Given the description of an element on the screen output the (x, y) to click on. 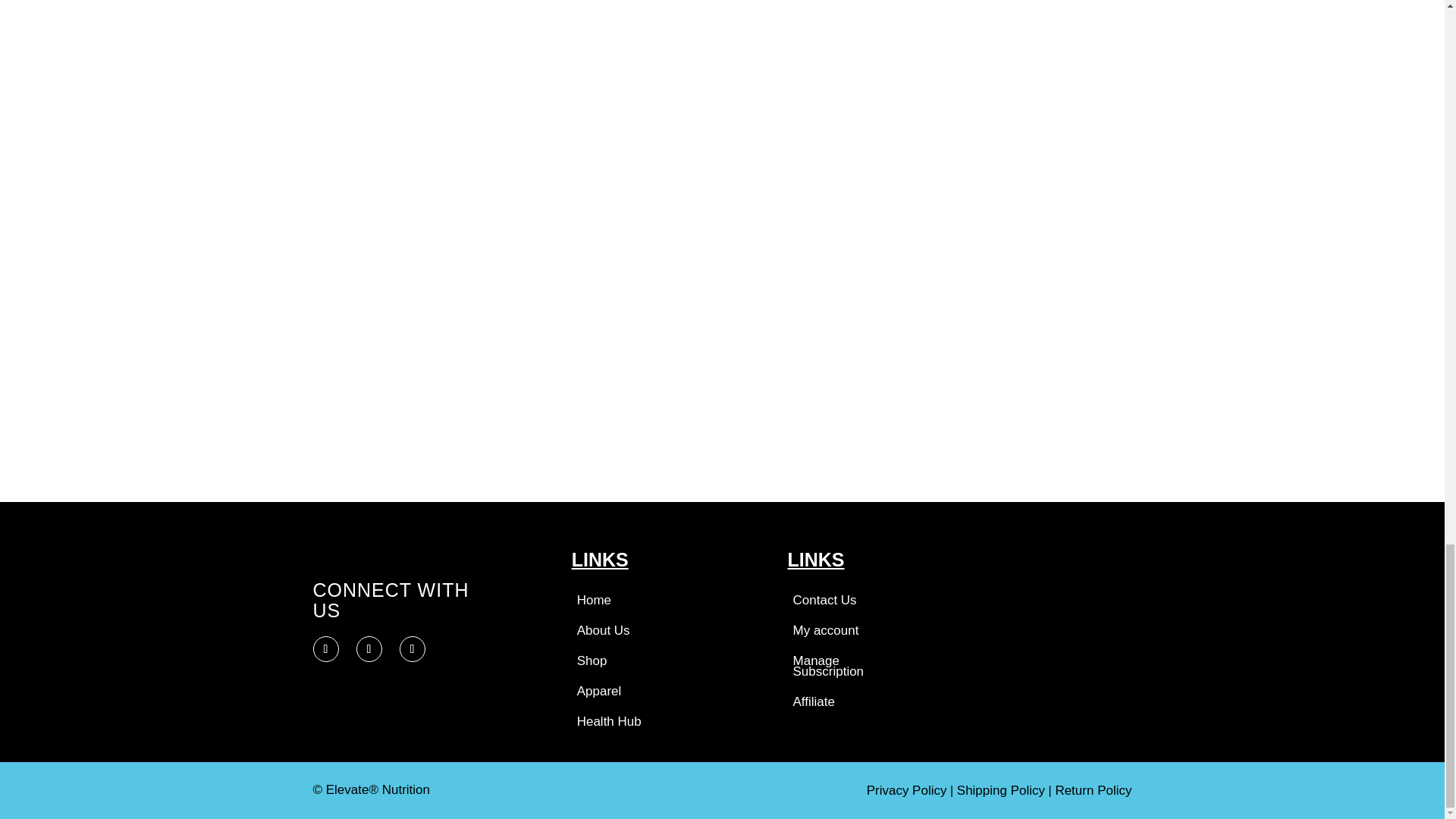
Elevate-Nutrition-Logo (398, 564)
